Given the description of an element on the screen output the (x, y) to click on. 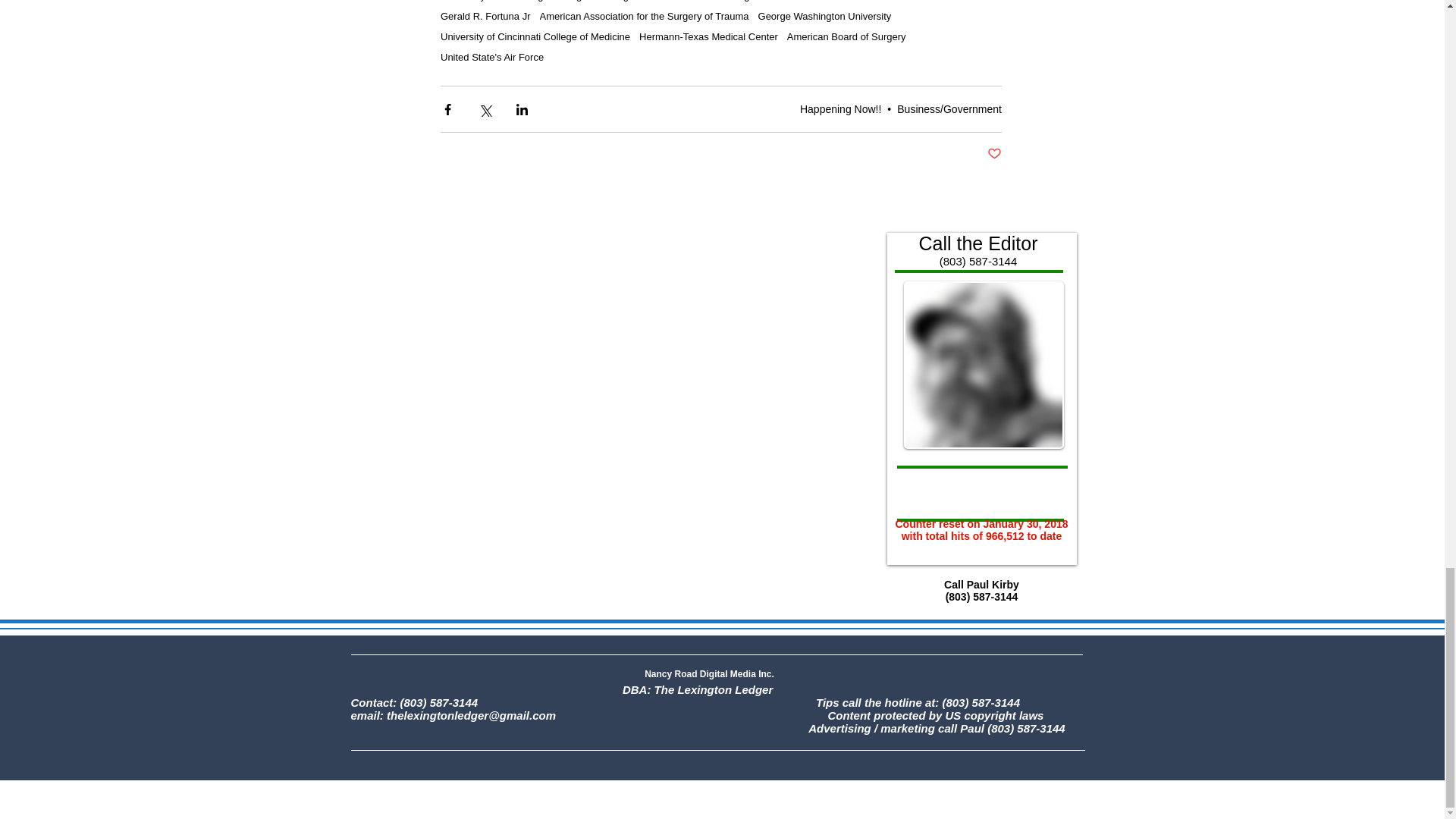
American Association for the Surgery of Trauma (644, 16)
United State's Air Force (492, 57)
Happening Now!! (839, 109)
Post not marked as liked (994, 154)
The Lexington Ledger (542, 0)
Paul Kirby (462, 0)
Lexington Medical Center (655, 0)
American Board of Surgery (846, 36)
George Washington University (824, 16)
